Given the description of an element on the screen output the (x, y) to click on. 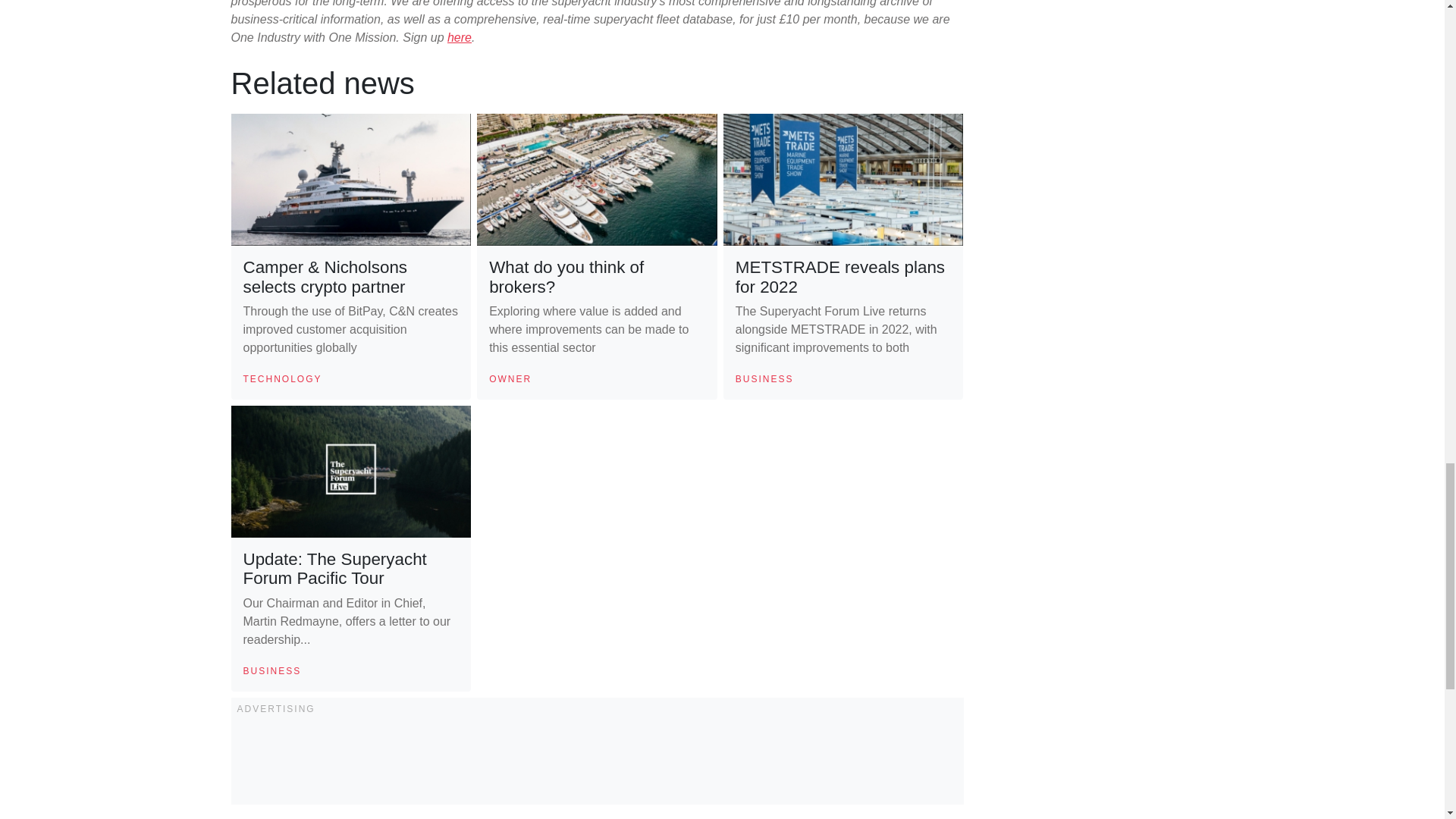
3rd party ad content (597, 757)
here (458, 37)
